Given the description of an element on the screen output the (x, y) to click on. 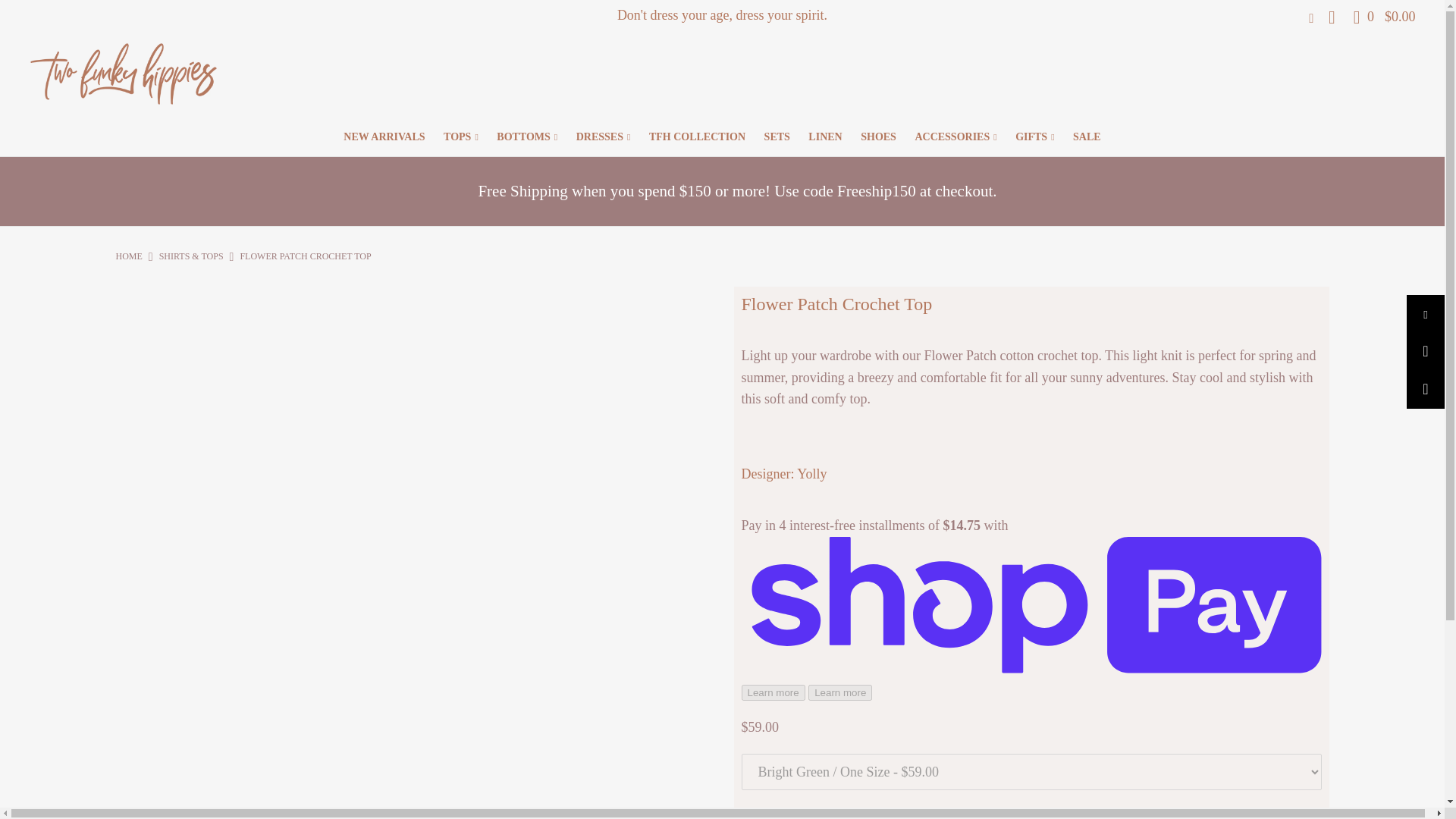
NEW ARRIVALS (384, 136)
